Given the description of an element on the screen output the (x, y) to click on. 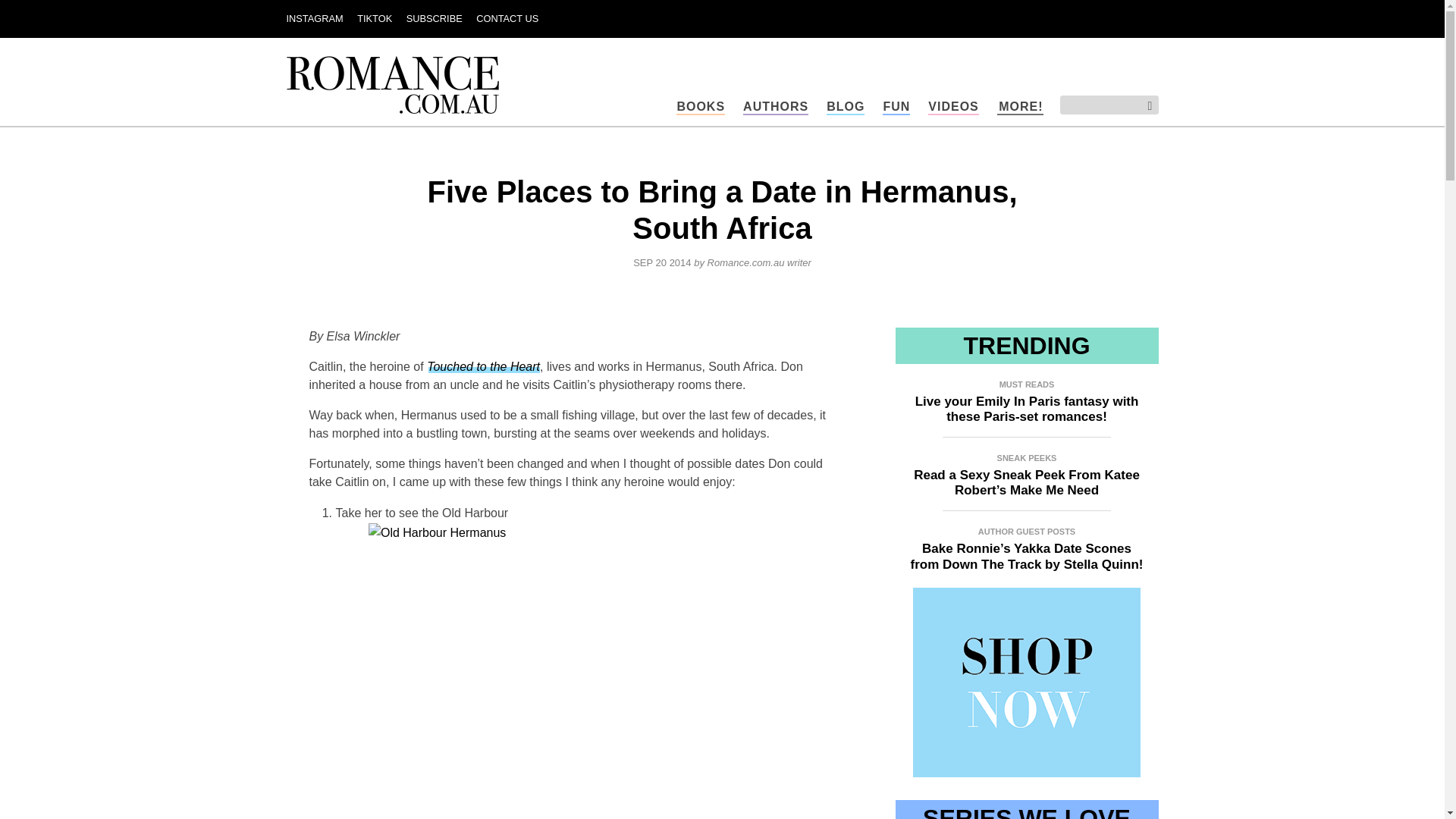
TIKTOK (373, 18)
CONTACT US (507, 18)
AUTHORS (775, 107)
MORE! (1020, 107)
VIDEOS (953, 107)
Search (1144, 106)
FUN (896, 107)
Search (1144, 106)
Search (1144, 106)
SUBSCRIBE (434, 18)
INSTAGRAM (314, 18)
BLOG (845, 107)
BOOKS (701, 107)
